Given the description of an element on the screen output the (x, y) to click on. 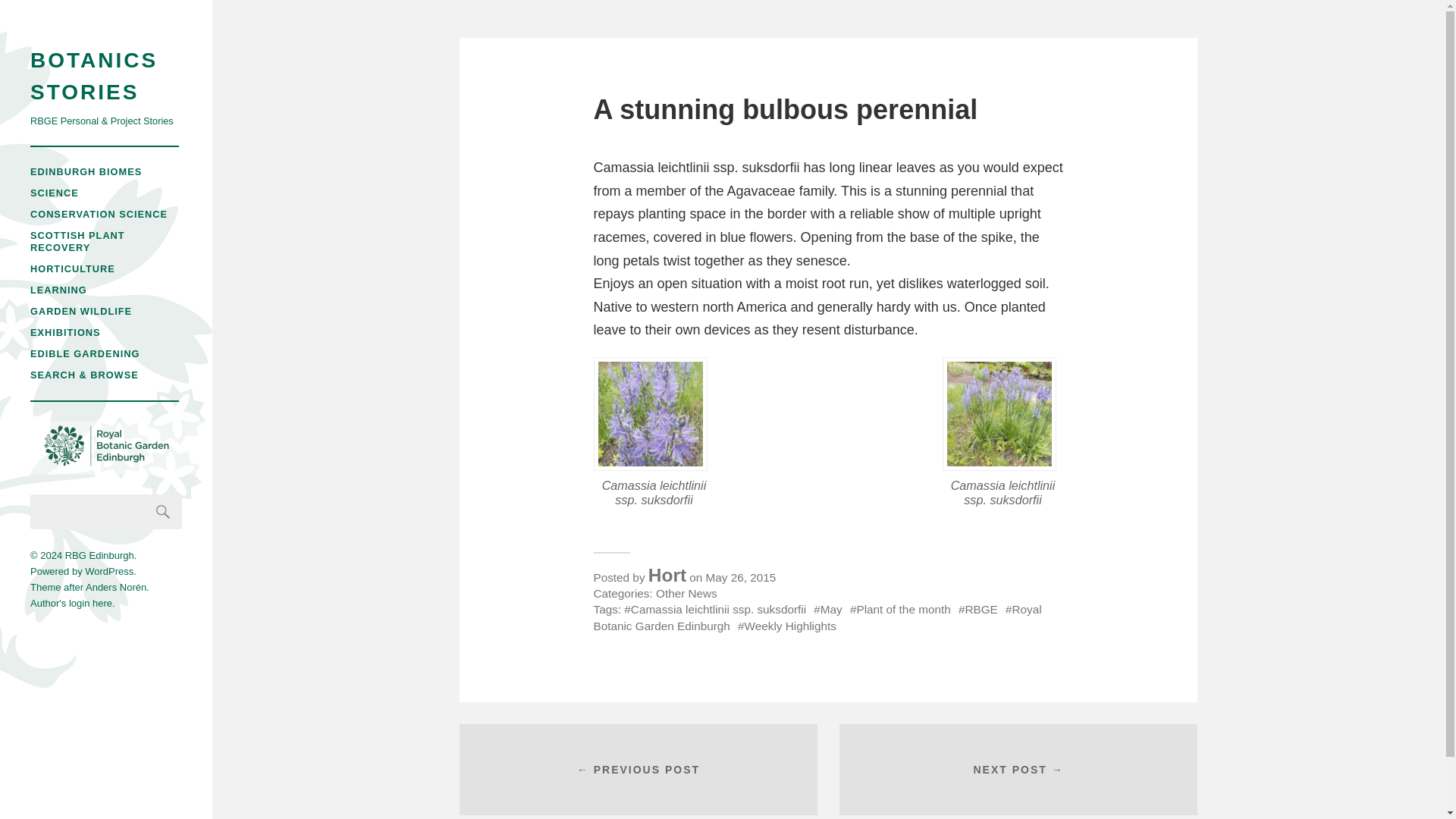
Author's login here. (72, 603)
Weekly Highlights (786, 625)
Hort (666, 575)
RBGE (977, 608)
SCOTTISH PLANT RECOVERY (77, 241)
Plant of the month (900, 608)
Royal Botanic Garden Edinburgh (816, 616)
Search (163, 511)
GARDEN WILDLIFE (81, 310)
Posts by Hort (666, 575)
